Given the description of an element on the screen output the (x, y) to click on. 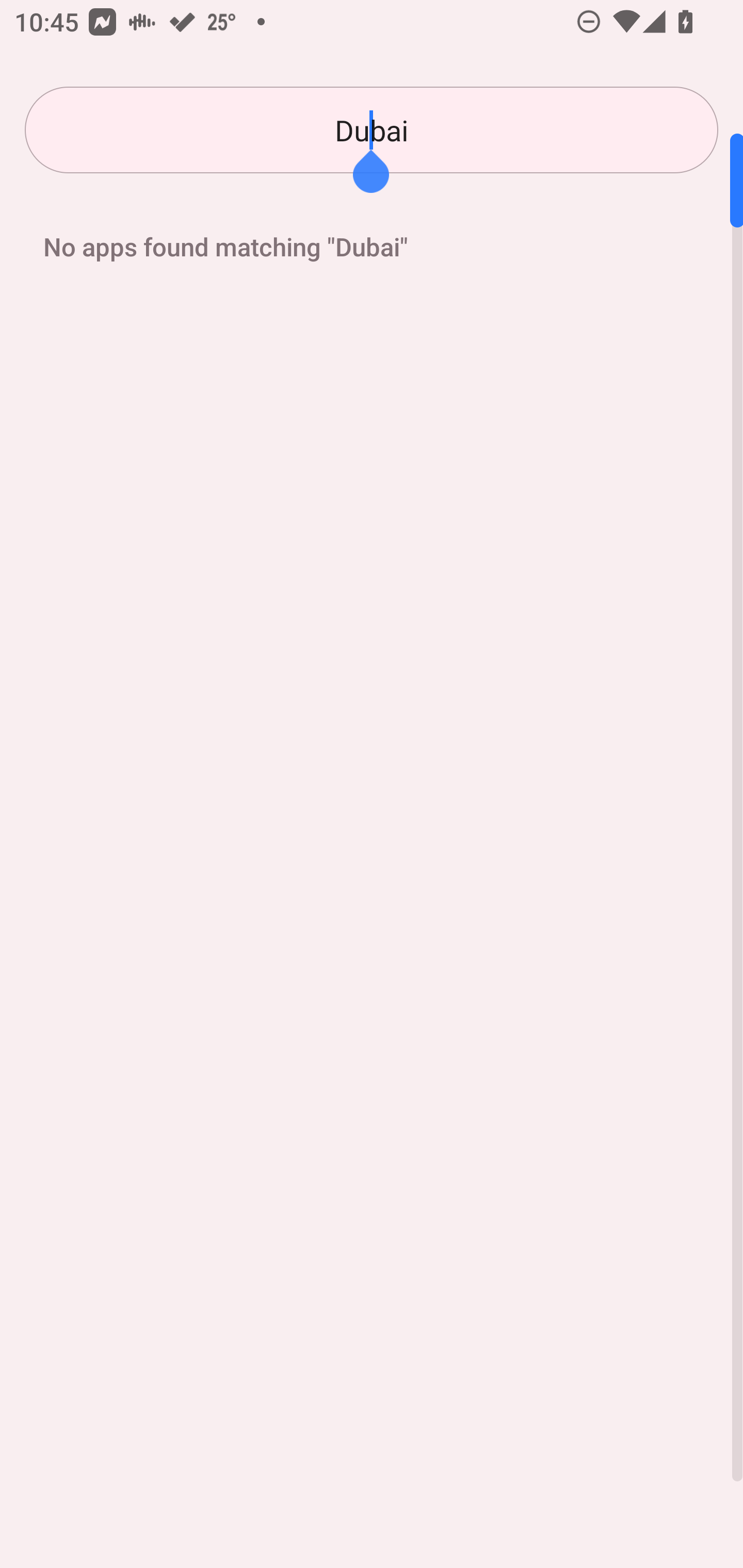
Dubai (371, 130)
